Given the description of an element on the screen output the (x, y) to click on. 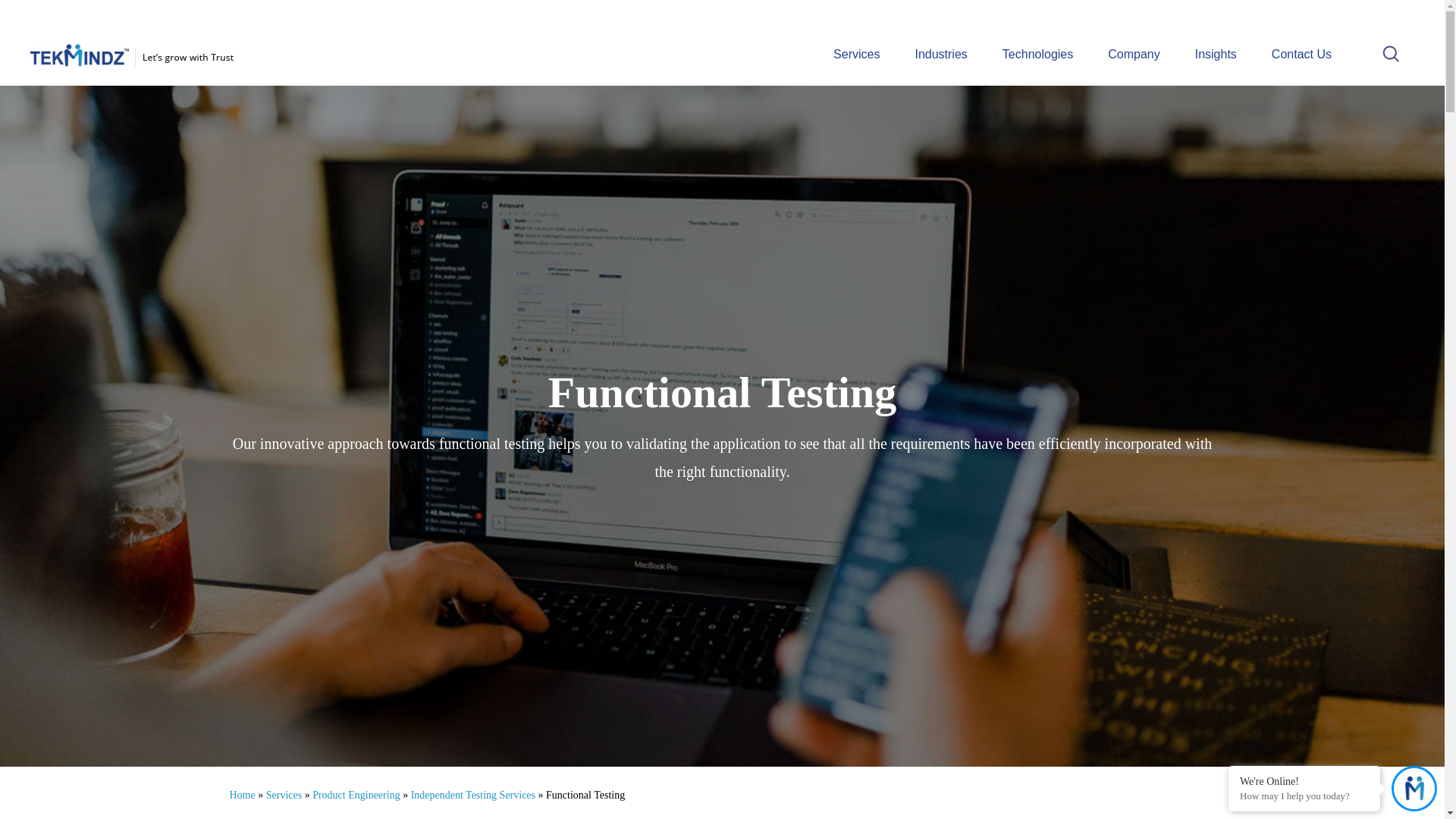
We're Online! (1304, 780)
Services (855, 52)
How may I help you today? (1304, 796)
Industries (940, 52)
